Given the description of an element on the screen output the (x, y) to click on. 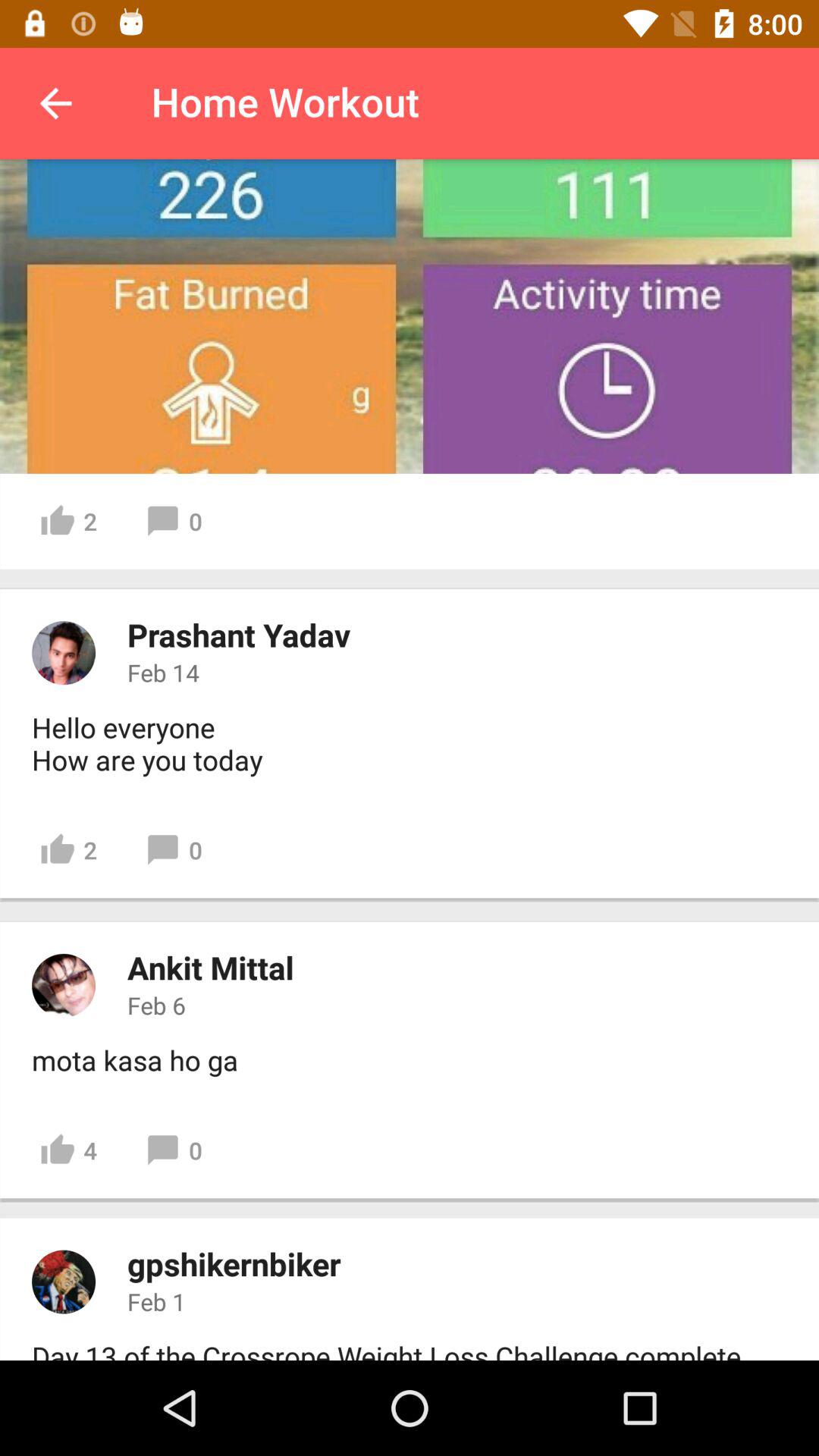
photo of commentor (63, 652)
